Given the description of an element on the screen output the (x, y) to click on. 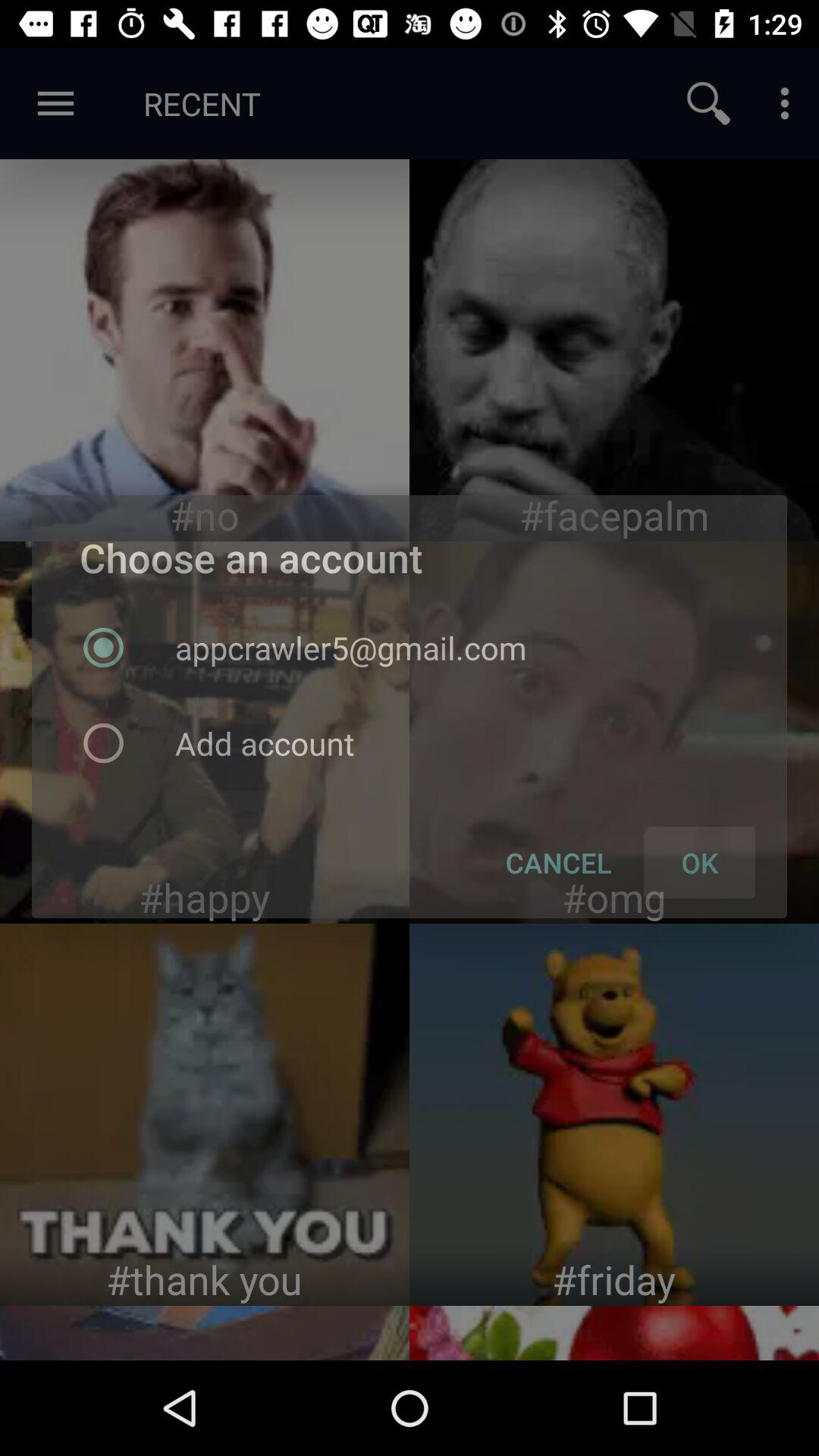
enter to watch video (614, 1114)
